Given the description of an element on the screen output the (x, y) to click on. 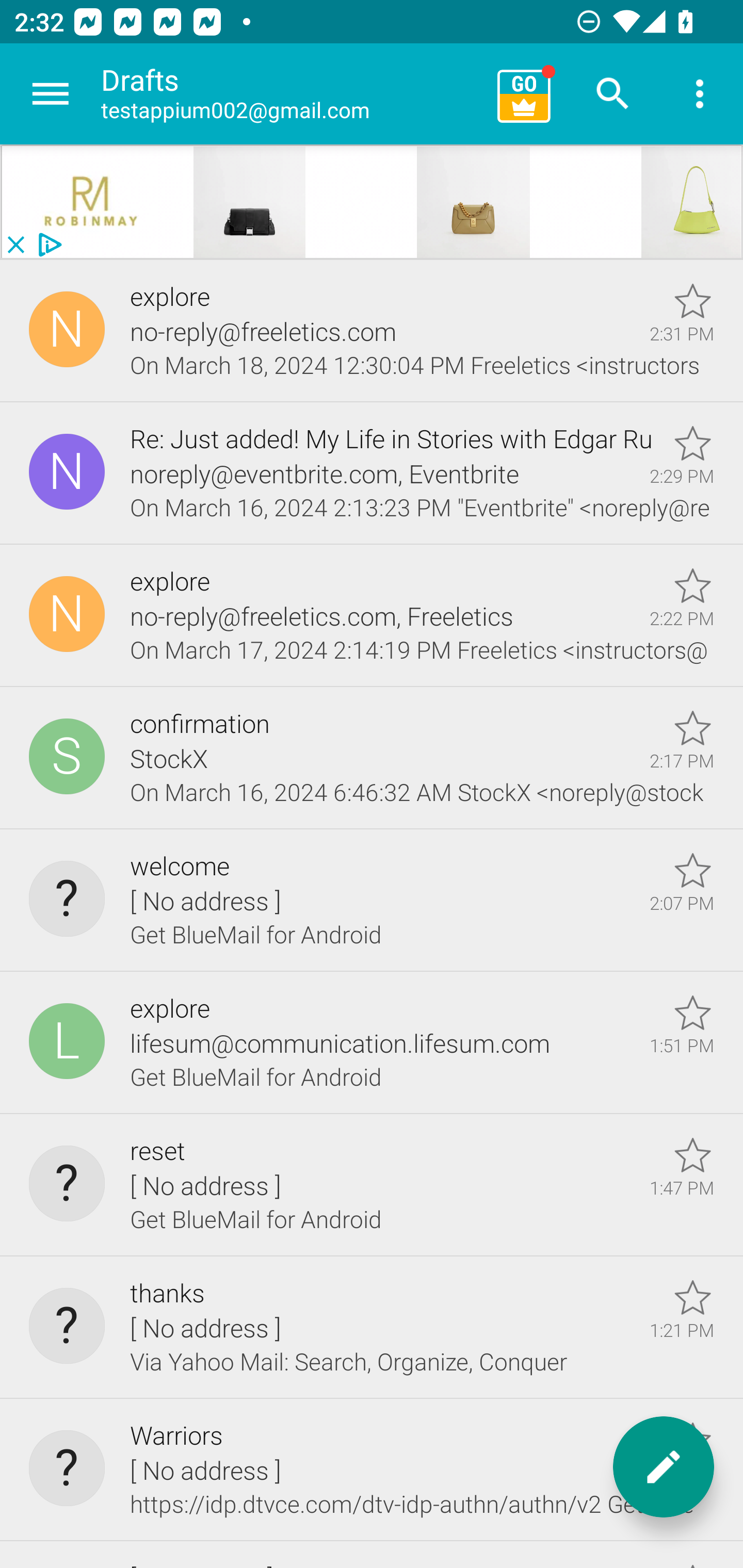
Navigate up (50, 93)
Drafts testappium002@gmail.com (291, 93)
Search (612, 93)
More options (699, 93)
   (91, 202)
close_button (14, 245)
privacy_small (47, 245)
New message (663, 1466)
